Given the description of an element on the screen output the (x, y) to click on. 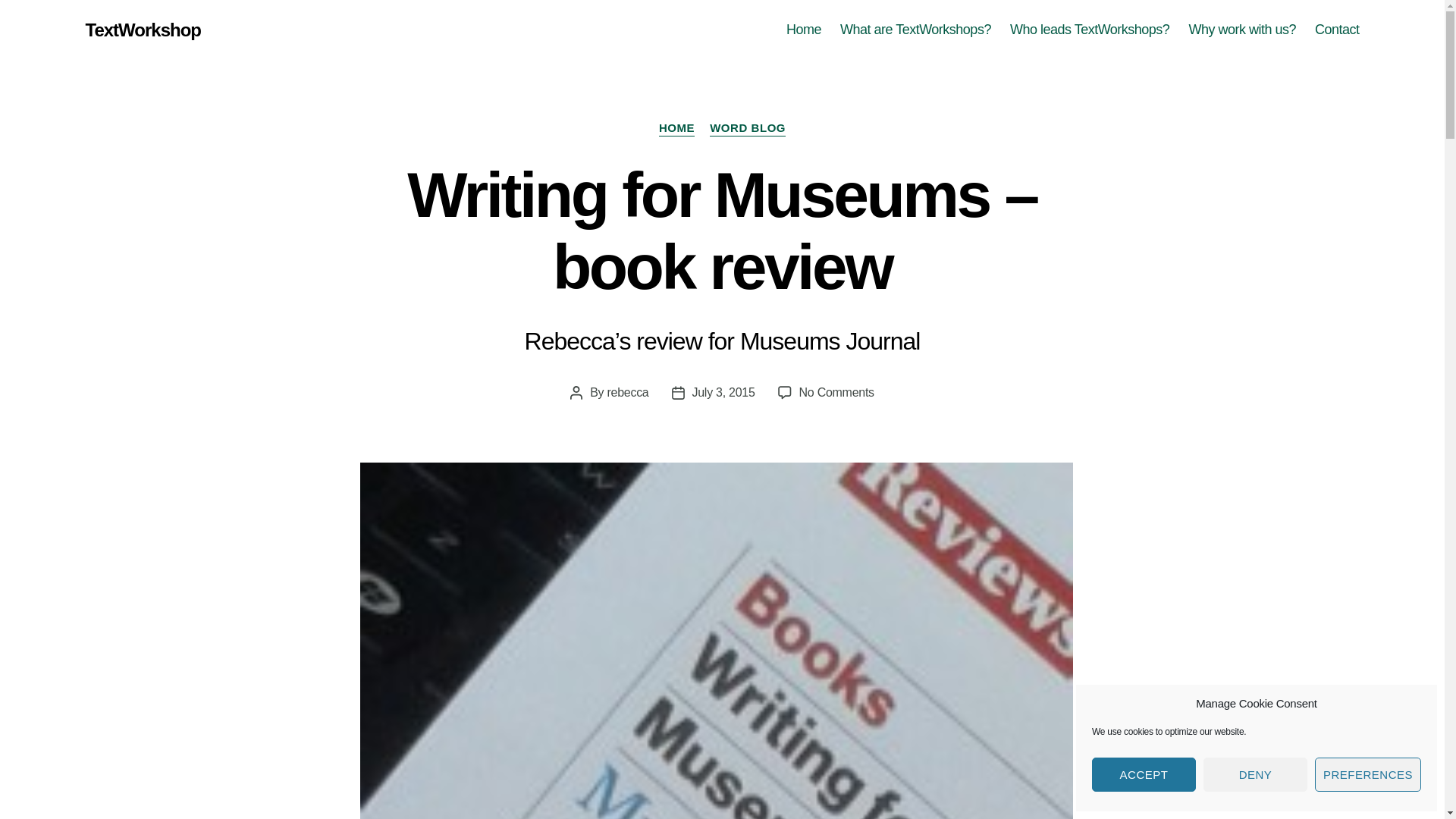
ACCEPT (1143, 774)
Home (803, 30)
TextWorkshop (142, 30)
Who leads TextWorkshops? (1089, 30)
Why work with us? (1241, 30)
July 3, 2015 (724, 391)
HOME (676, 128)
WORD BLOG (748, 128)
DENY (1255, 774)
What are TextWorkshops? (915, 30)
